Given the description of an element on the screen output the (x, y) to click on. 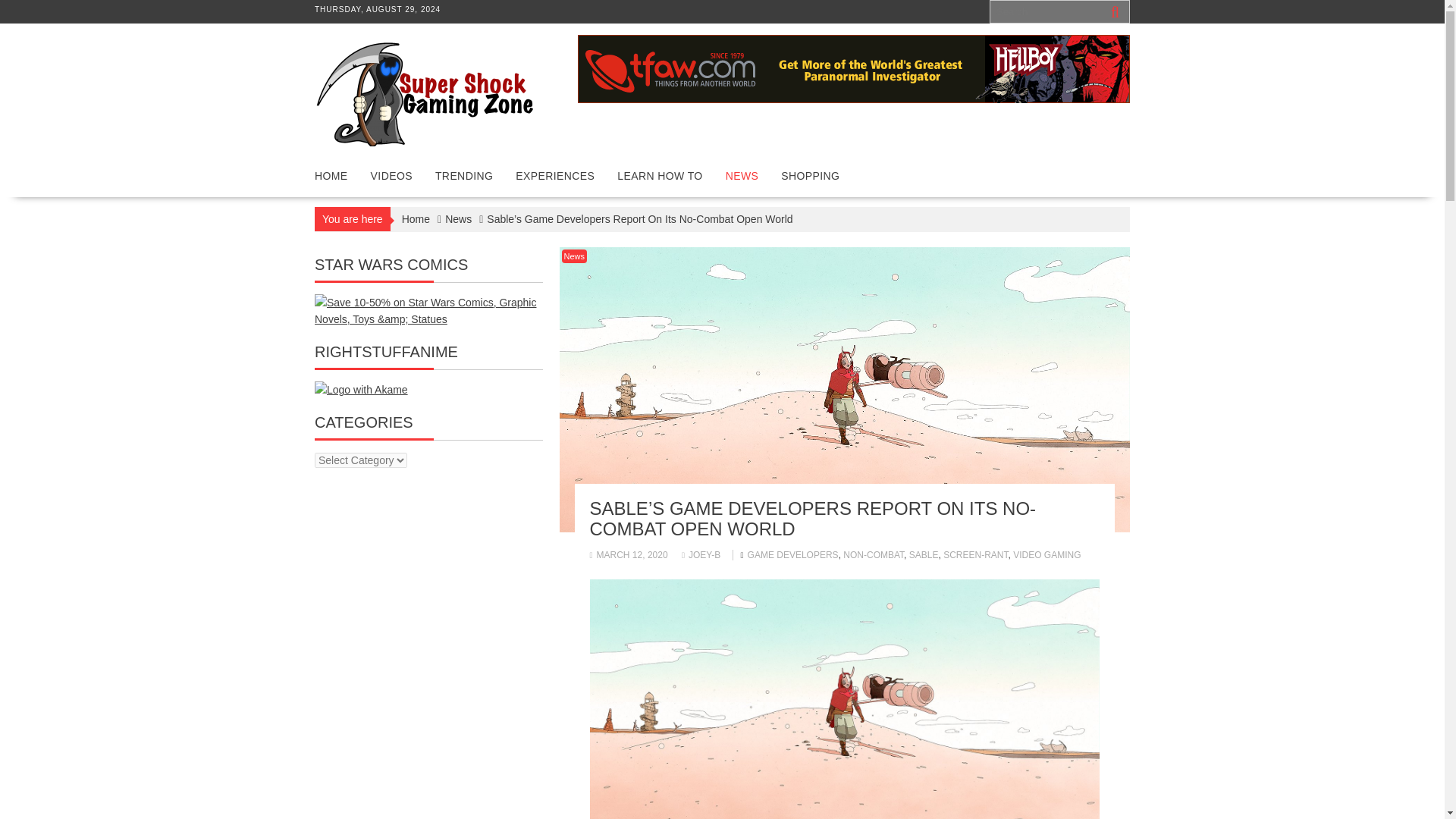
SCREEN-RANT (975, 554)
VIDEO GAMING (1046, 554)
News (458, 218)
SABLE (923, 554)
NON-COMBAT (873, 554)
GAME DEVELOPERS (793, 554)
HOME (330, 176)
LEARN HOW TO (659, 176)
NEWS (742, 176)
TRENDING (463, 176)
